Given the description of an element on the screen output the (x, y) to click on. 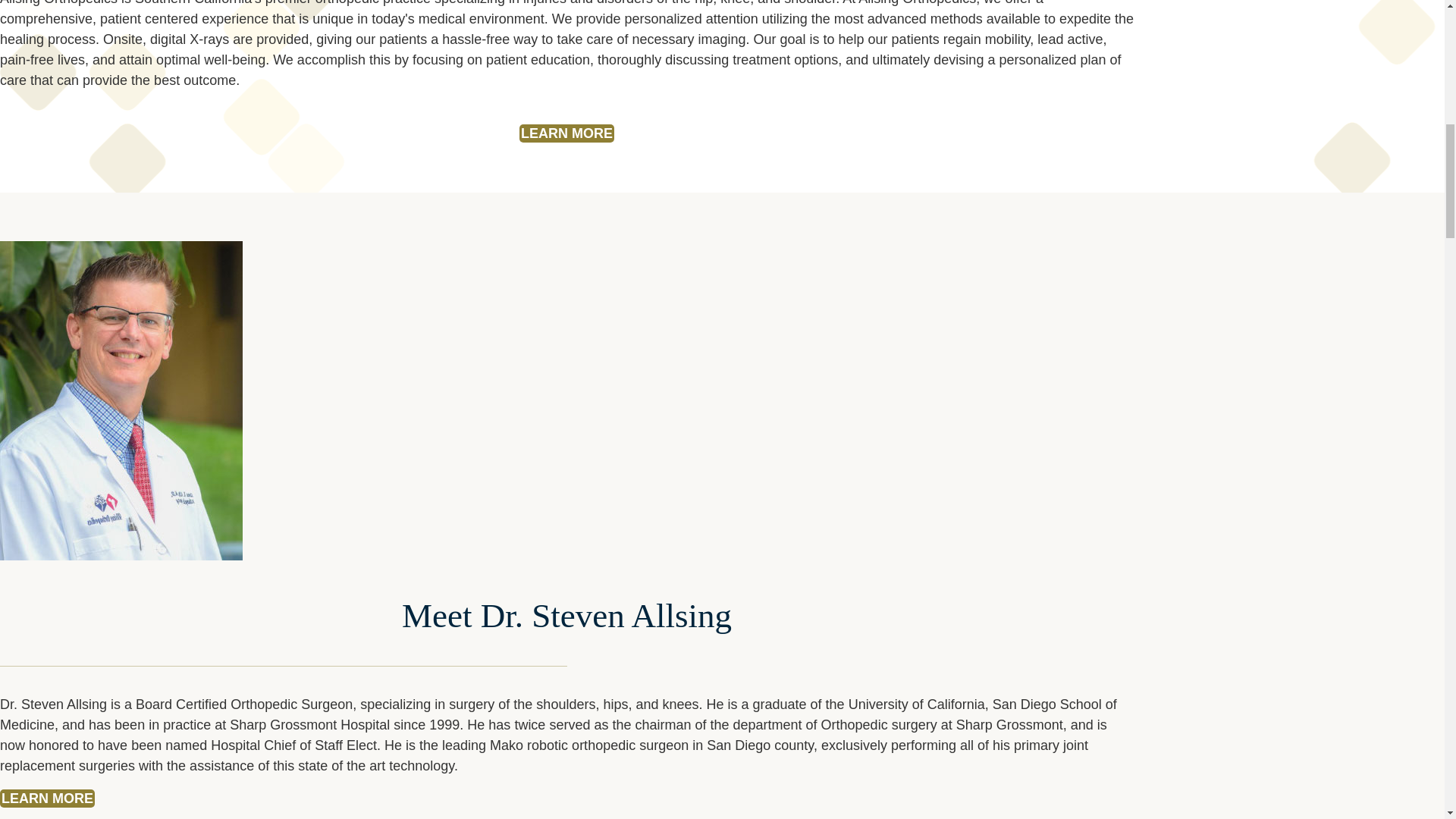
LEARN MORE (566, 133)
